Given the description of an element on the screen output the (x, y) to click on. 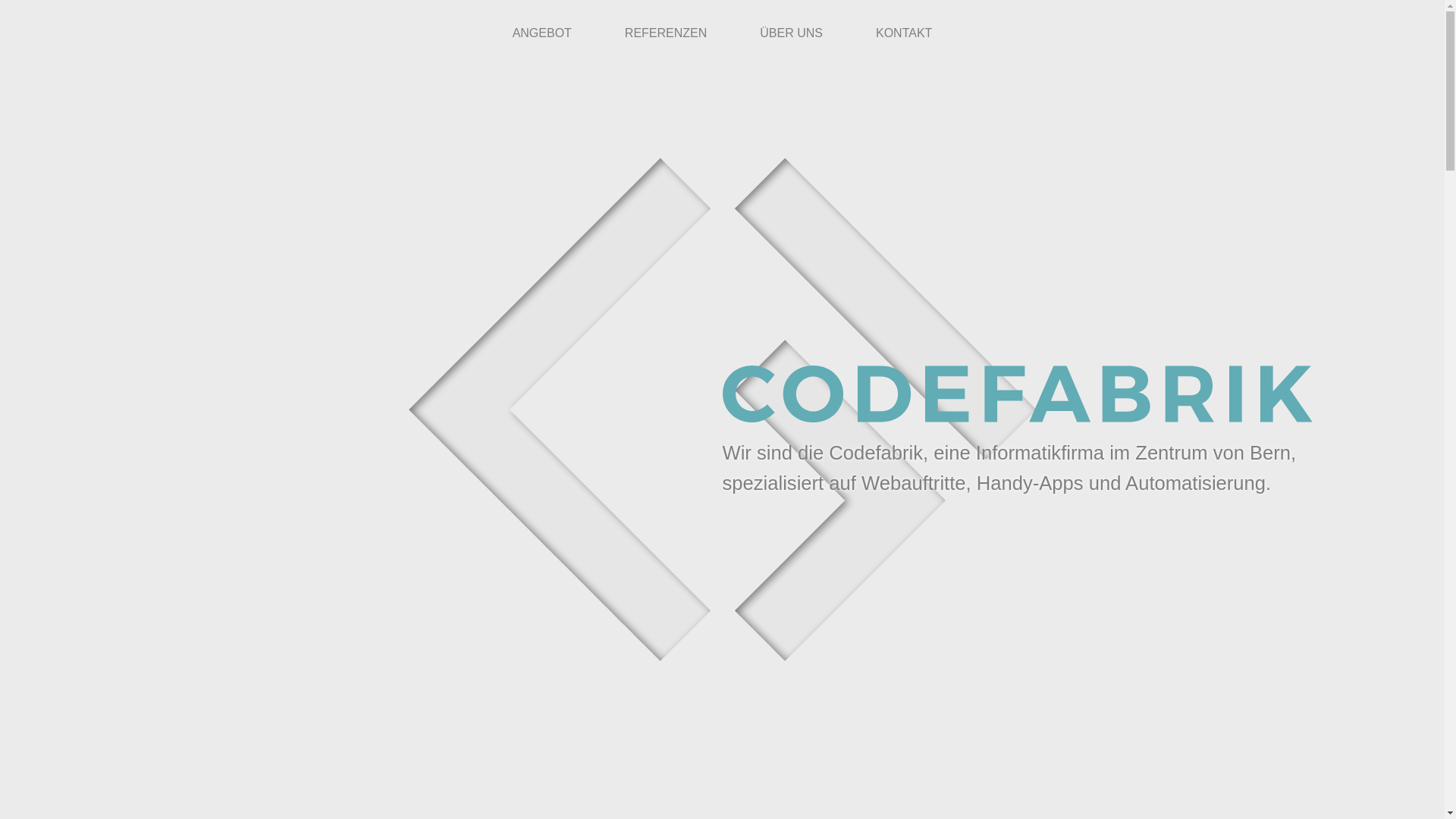
REFERENZEN Element type: text (665, 33)
KONTAKT Element type: text (903, 33)
ANGEBOT Element type: text (542, 33)
